Given the description of an element on the screen output the (x, y) to click on. 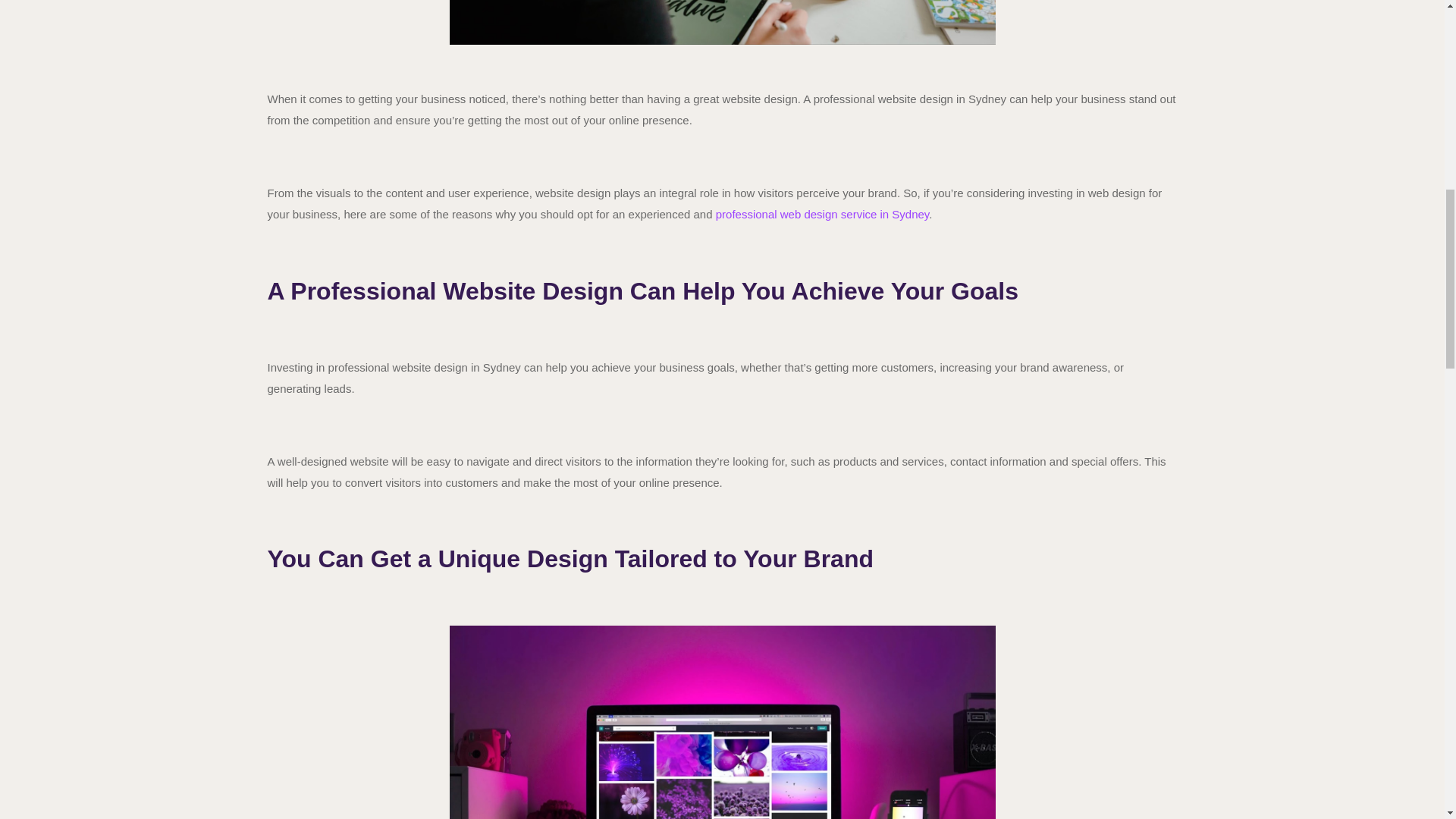
professional web design service in Sydney (823, 214)
